Given the description of an element on the screen output the (x, y) to click on. 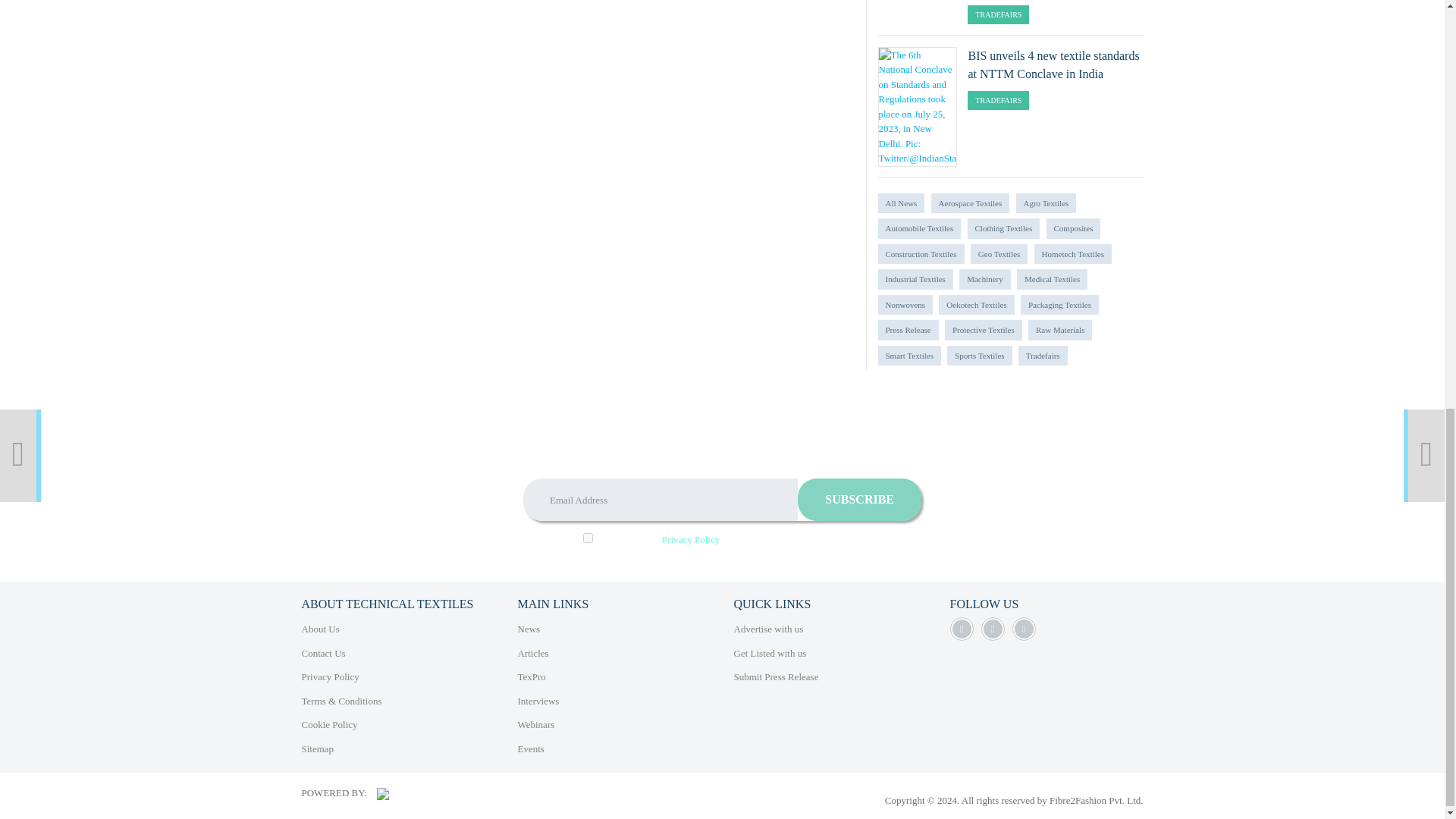
yes (587, 537)
